Given the description of an element on the screen output the (x, y) to click on. 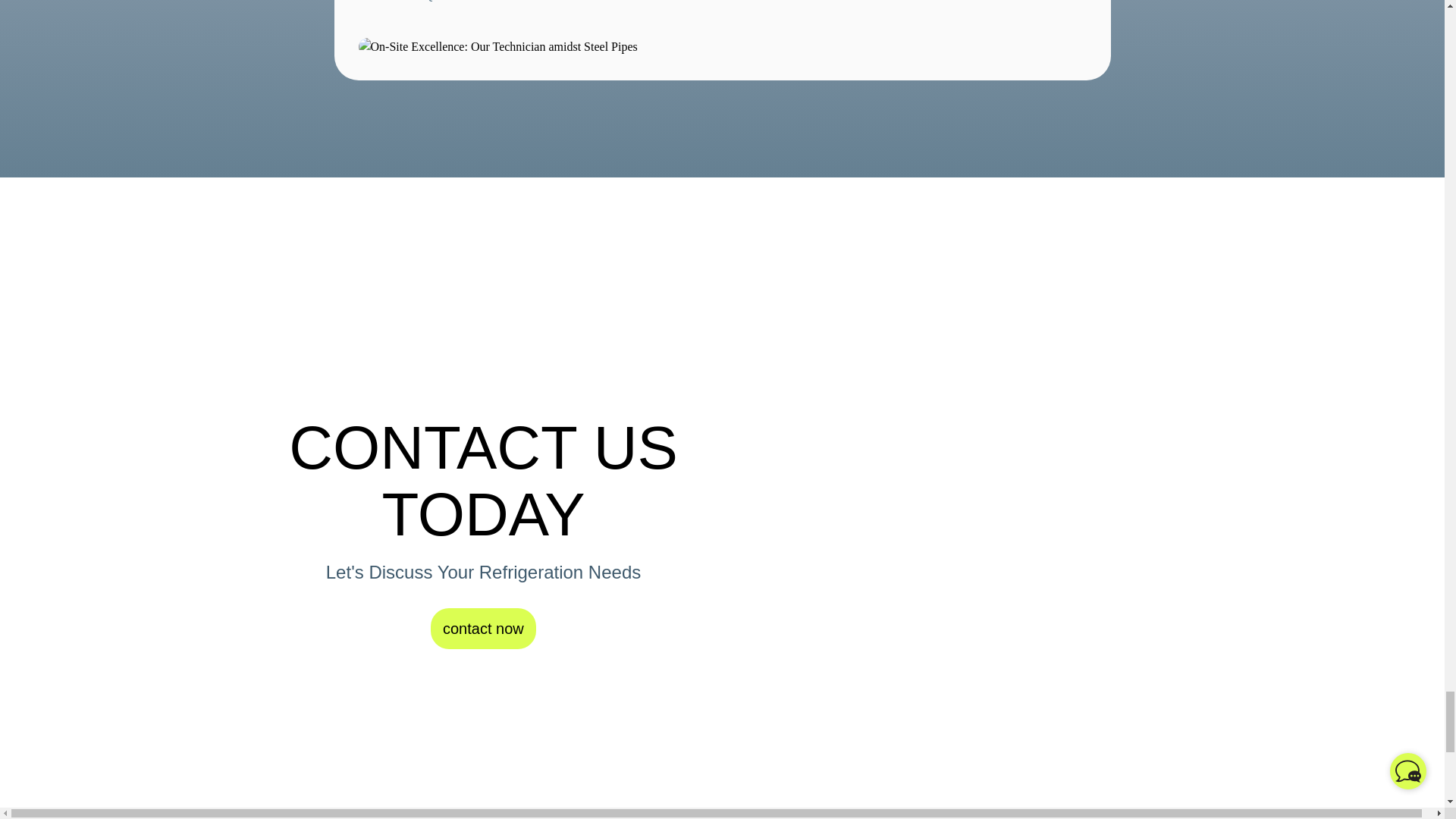
contact now (482, 628)
